Given the description of an element on the screen output the (x, y) to click on. 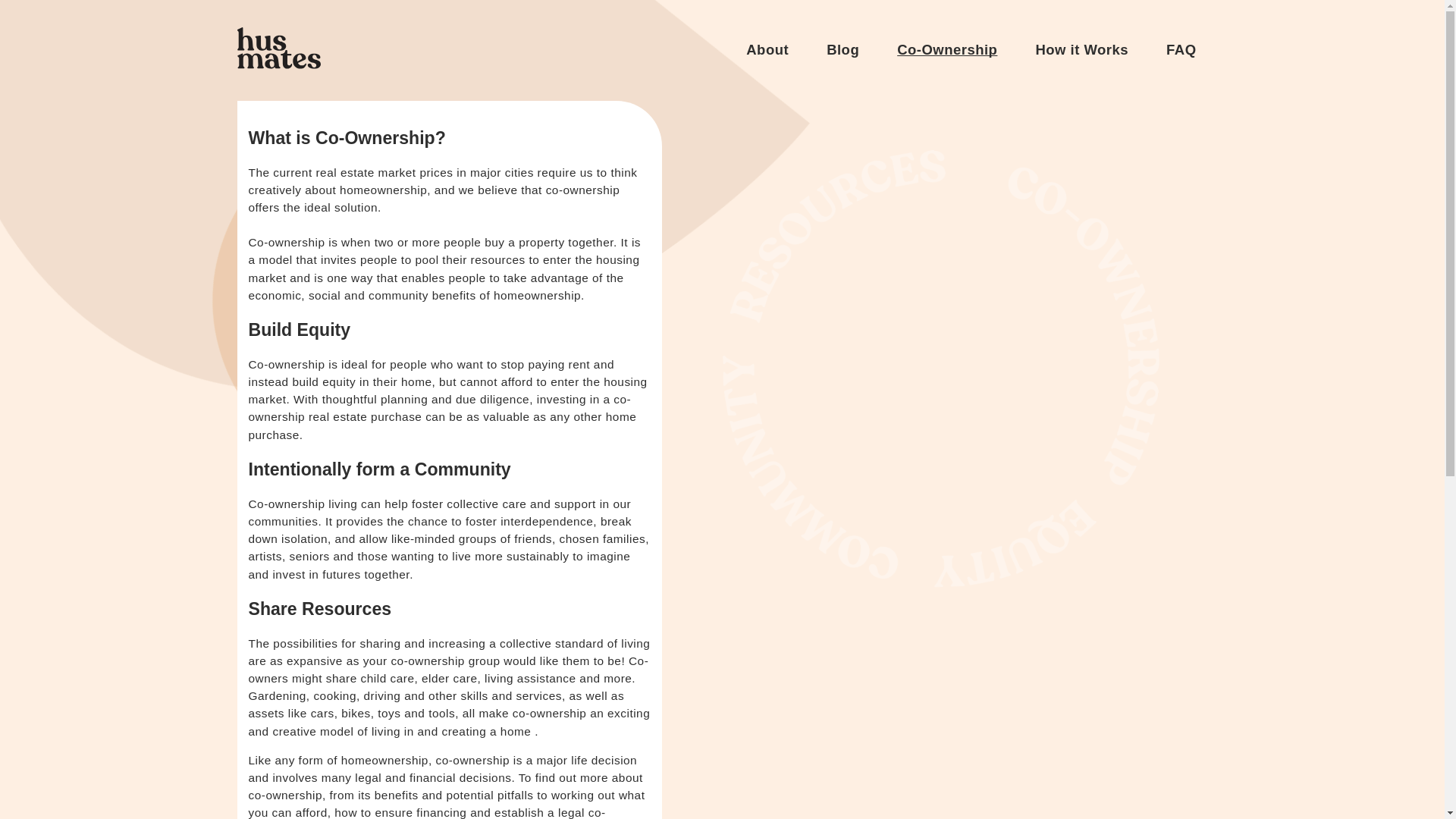
How it Works (1081, 49)
Co-Ownership (946, 49)
Blog (843, 49)
About (767, 49)
FAQ (1180, 49)
